Given the description of an element on the screen output the (x, y) to click on. 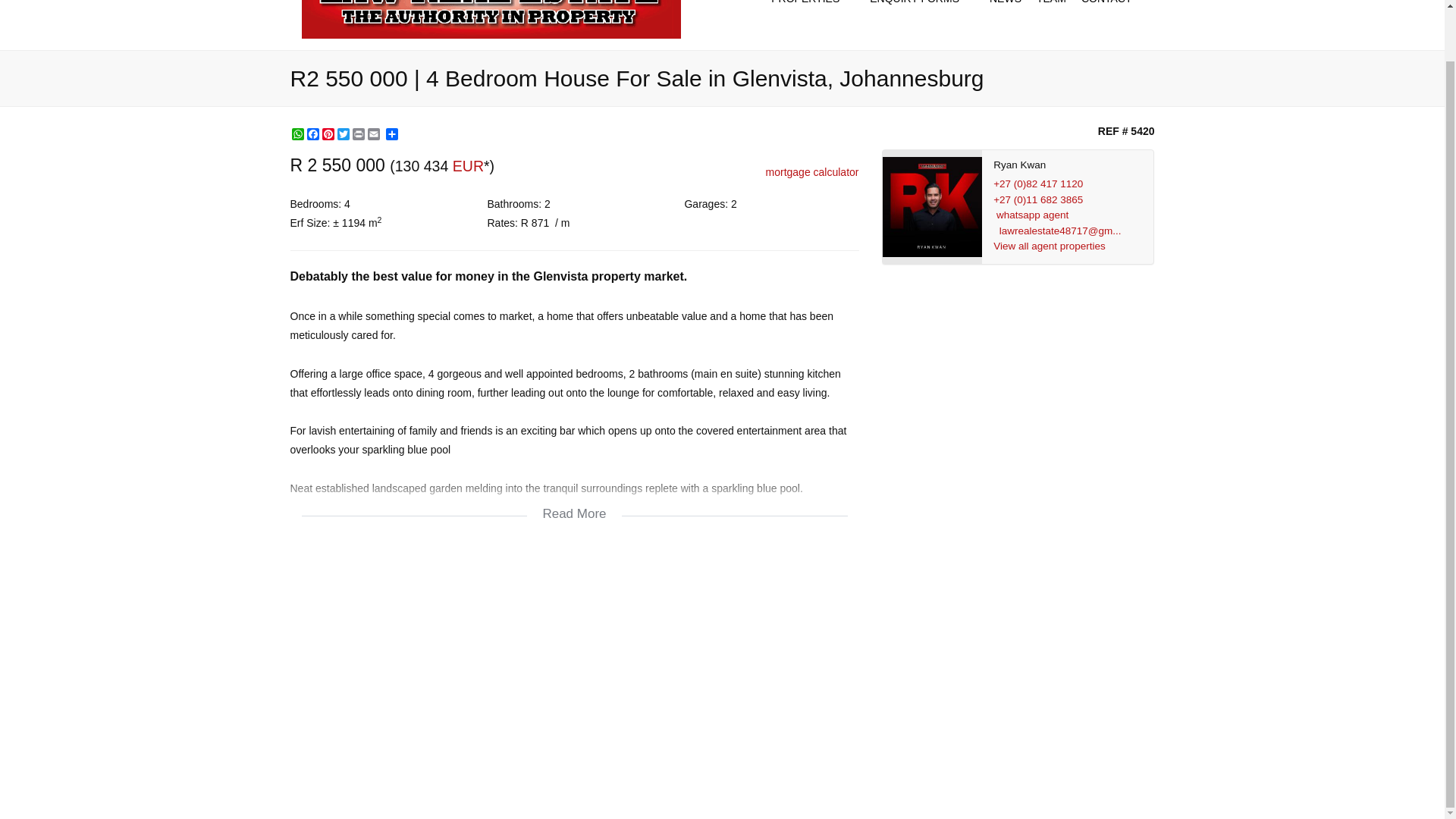
NEWS (1005, 8)
WhatsApp (296, 133)
ENQUIRY FORMS (921, 8)
Twitter (342, 133)
TEAM (1051, 8)
PROPERTIES (811, 8)
Facebook (312, 133)
google map (574, 667)
Pinterest (327, 133)
CONTACT (1114, 8)
